Given the description of an element on the screen output the (x, y) to click on. 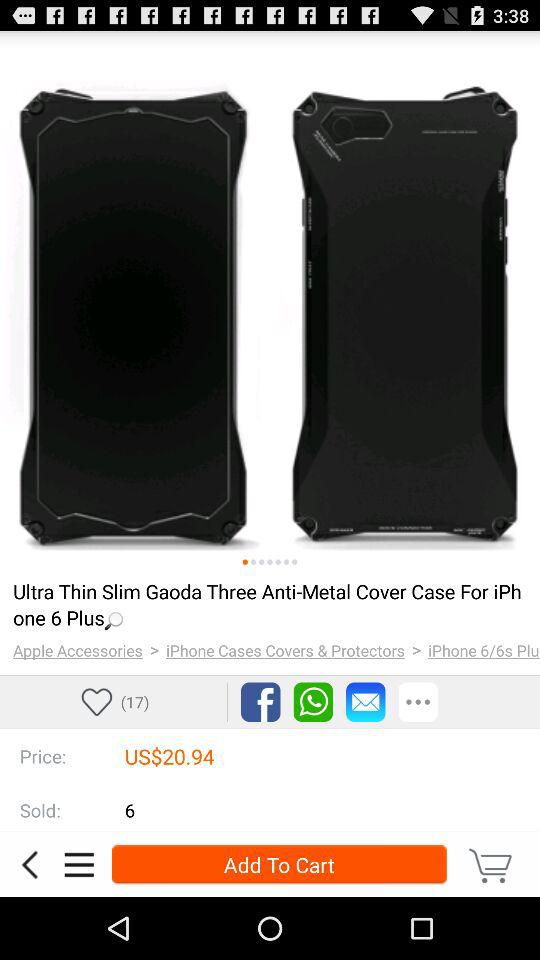
turn off the app to the right of the > (484, 650)
